Given the description of an element on the screen output the (x, y) to click on. 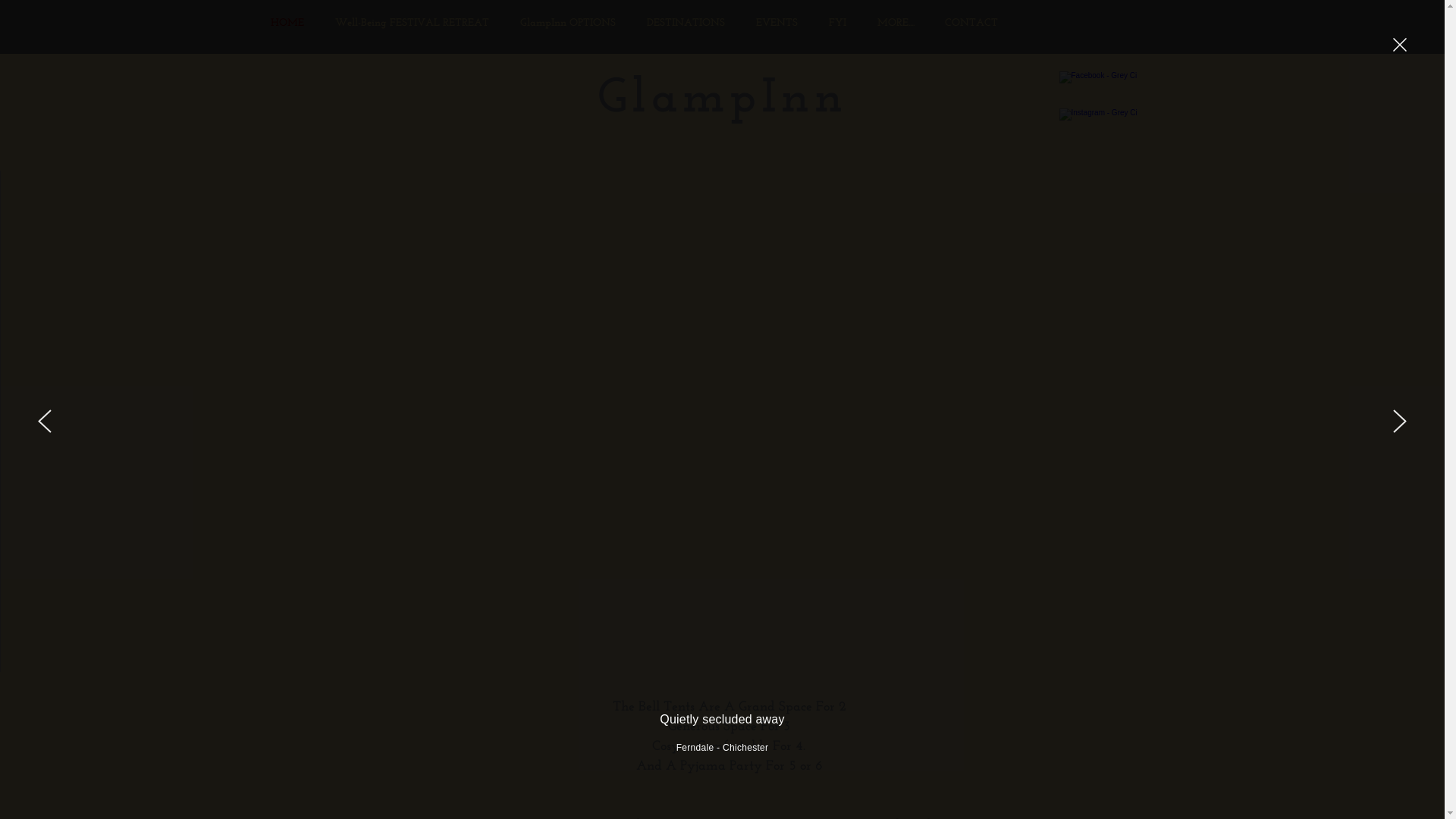
Well-Being FESTIVAL RETREAT Element type: text (412, 23)
GlampInn OPTIONS Element type: text (568, 23)
HOME Element type: text (286, 23)
EVENTS Element type: text (776, 23)
DESTINATIONS Element type: text (685, 23)
MORE.... Element type: text (894, 23)
CONTACT Element type: text (971, 23)
FYI Element type: text (836, 23)
